Given the description of an element on the screen output the (x, y) to click on. 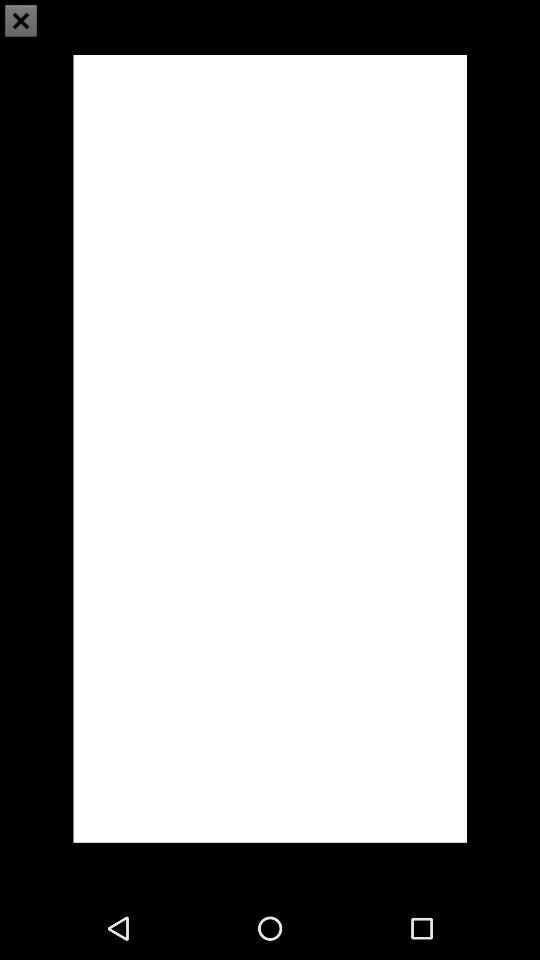
open the icon at the center (270, 448)
